Given the description of an element on the screen output the (x, y) to click on. 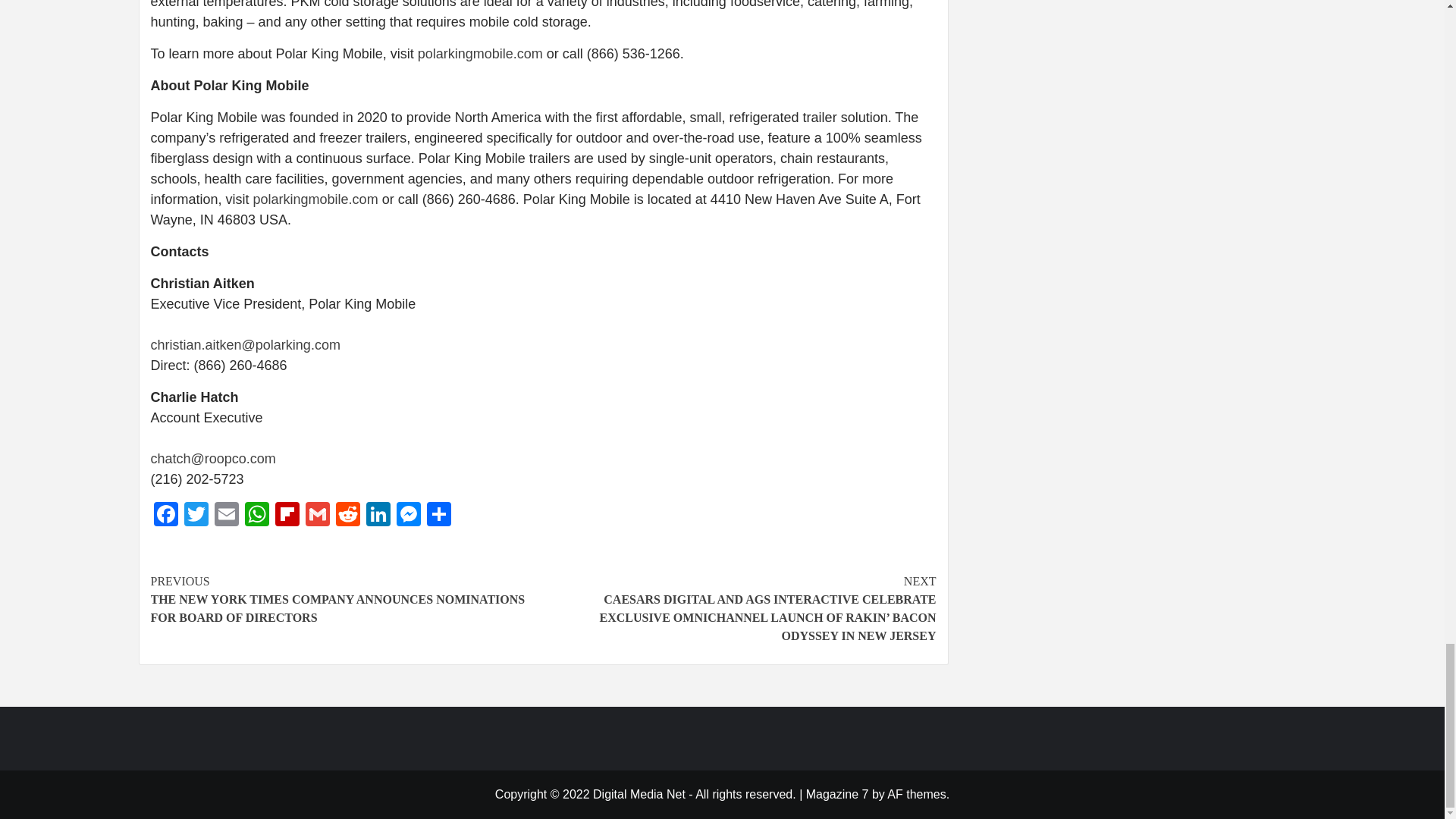
polarkingmobile.com (315, 199)
polarkingmobile.com (480, 53)
WhatsApp (255, 515)
Twitter (195, 515)
Flipboard (285, 515)
Email (226, 515)
Facebook (164, 515)
